Given the description of an element on the screen output the (x, y) to click on. 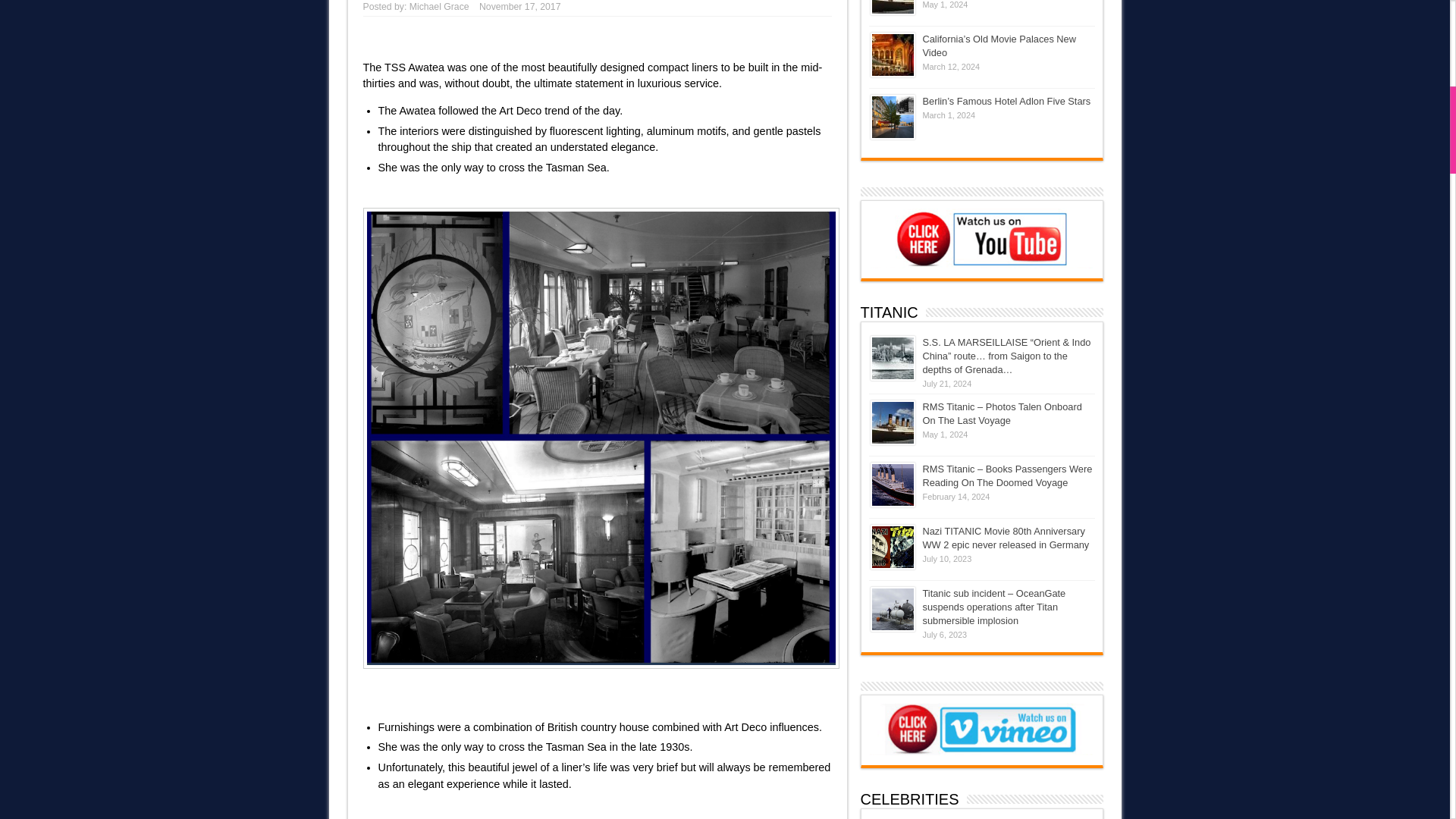
Michael Grace (438, 6)
